Given the description of an element on the screen output the (x, y) to click on. 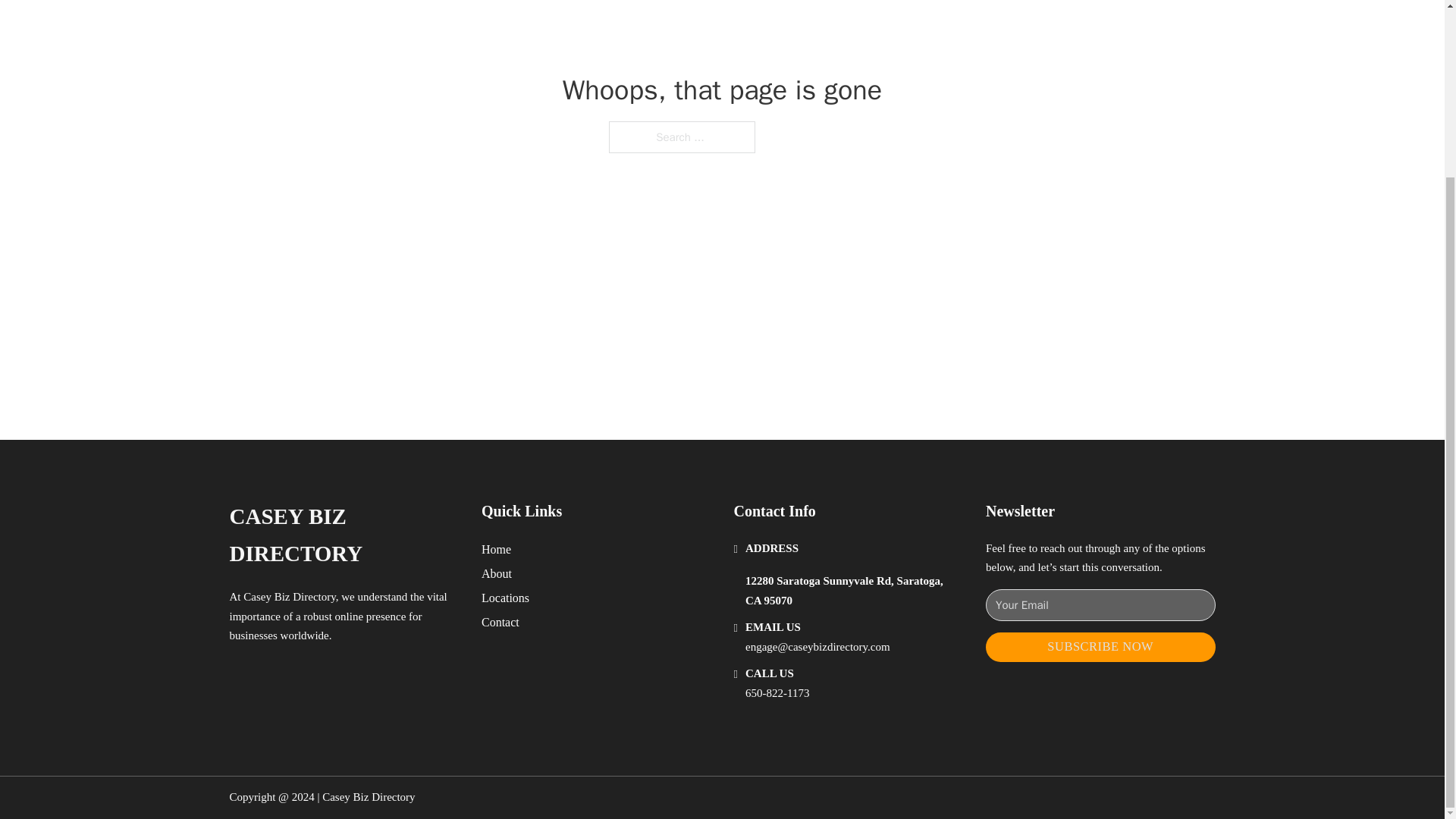
650-822-1173 (777, 693)
SUBSCRIBE NOW (1100, 646)
Locations (505, 598)
Home (496, 548)
CASEY BIZ DIRECTORY (343, 535)
Contact (500, 621)
About (496, 573)
